Given the description of an element on the screen output the (x, y) to click on. 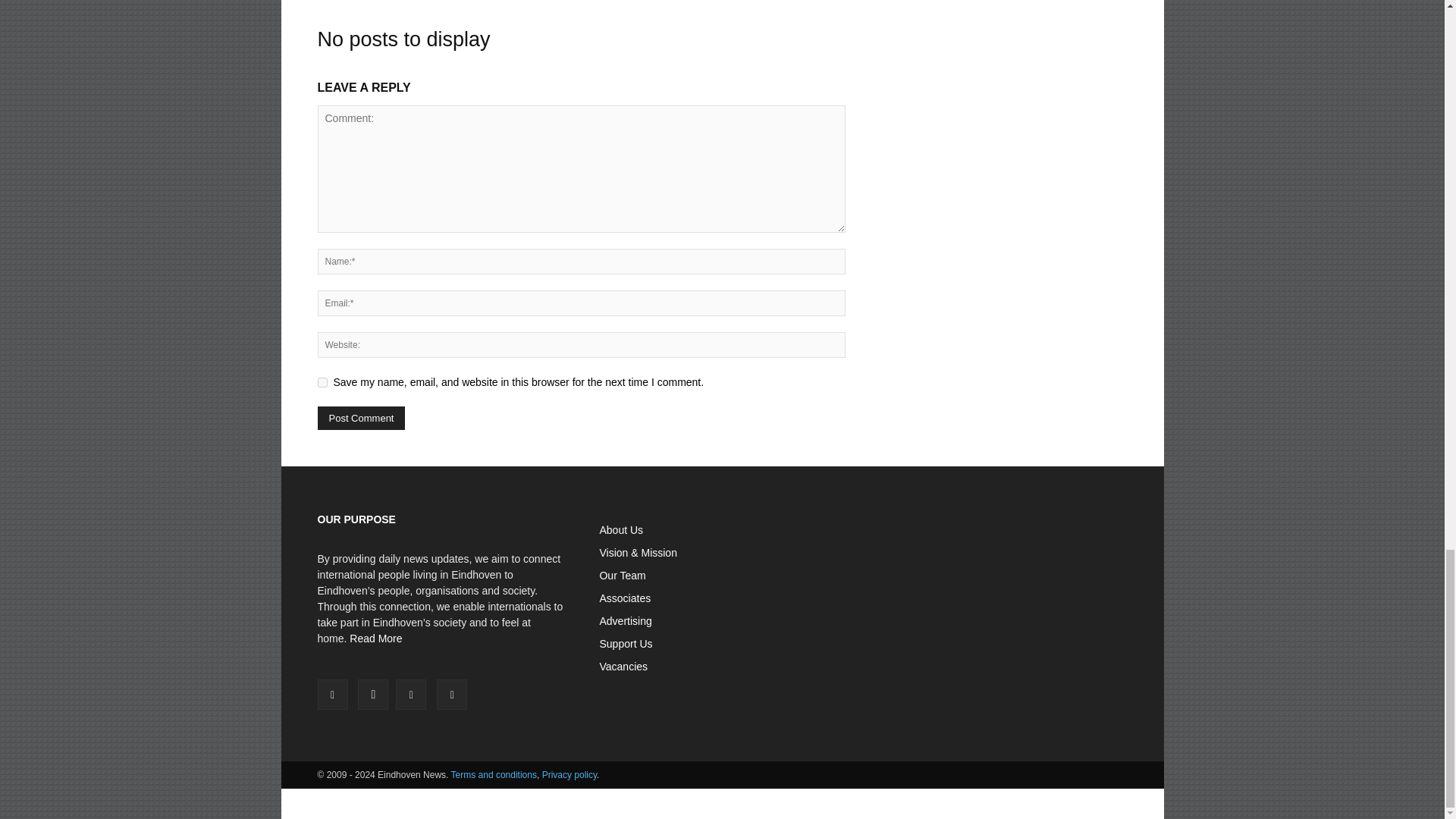
Post Comment (360, 417)
yes (321, 382)
